Given the description of an element on the screen output the (x, y) to click on. 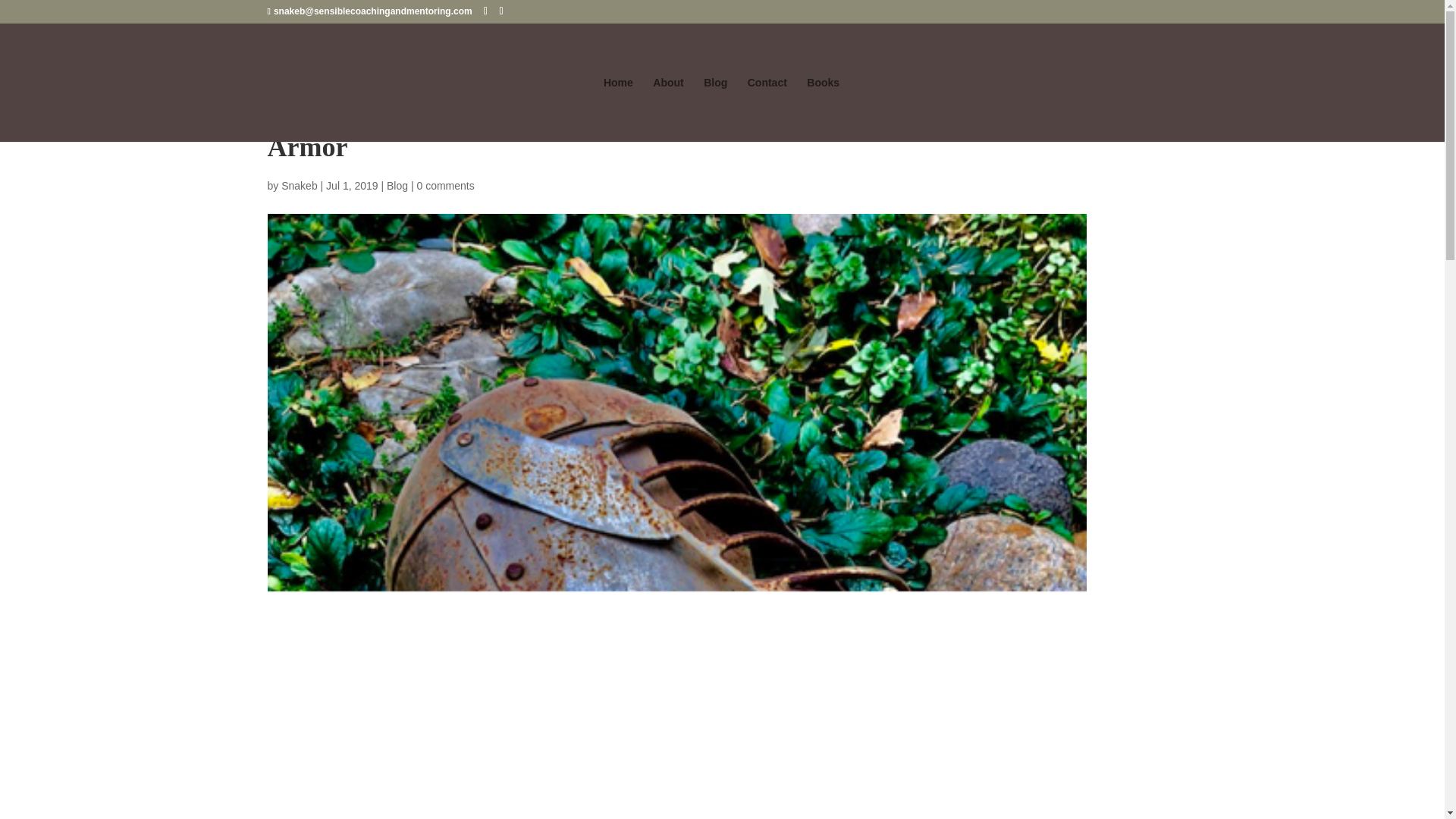
Snakeb (299, 185)
Posts by Snakeb (299, 185)
Blog (397, 185)
0 comments (445, 185)
